Given the description of an element on the screen output the (x, y) to click on. 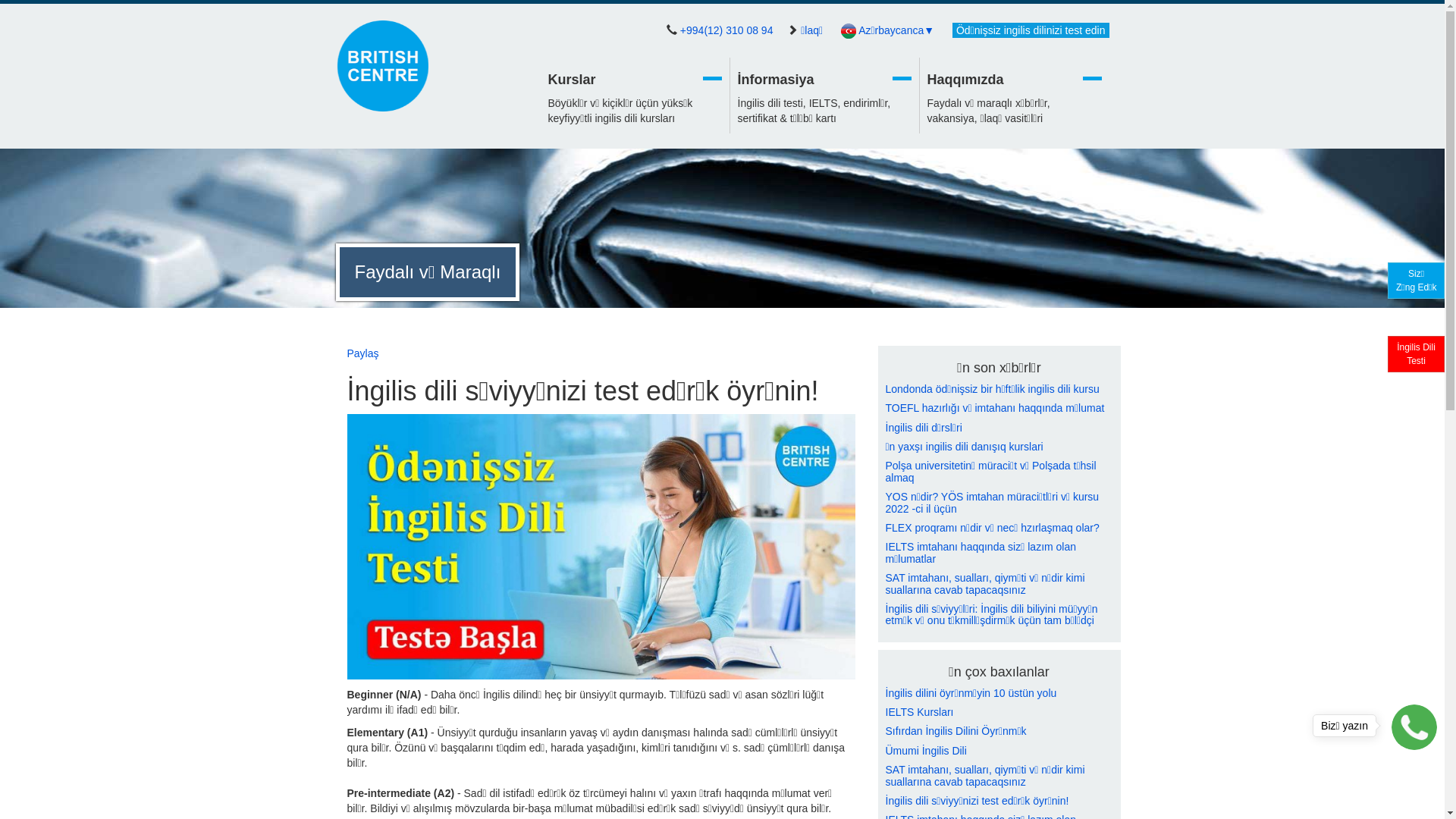
+994(12) 310 08 94 Element type: text (726, 30)
British Centre Element type: hover (381, 65)
